Given the description of an element on the screen output the (x, y) to click on. 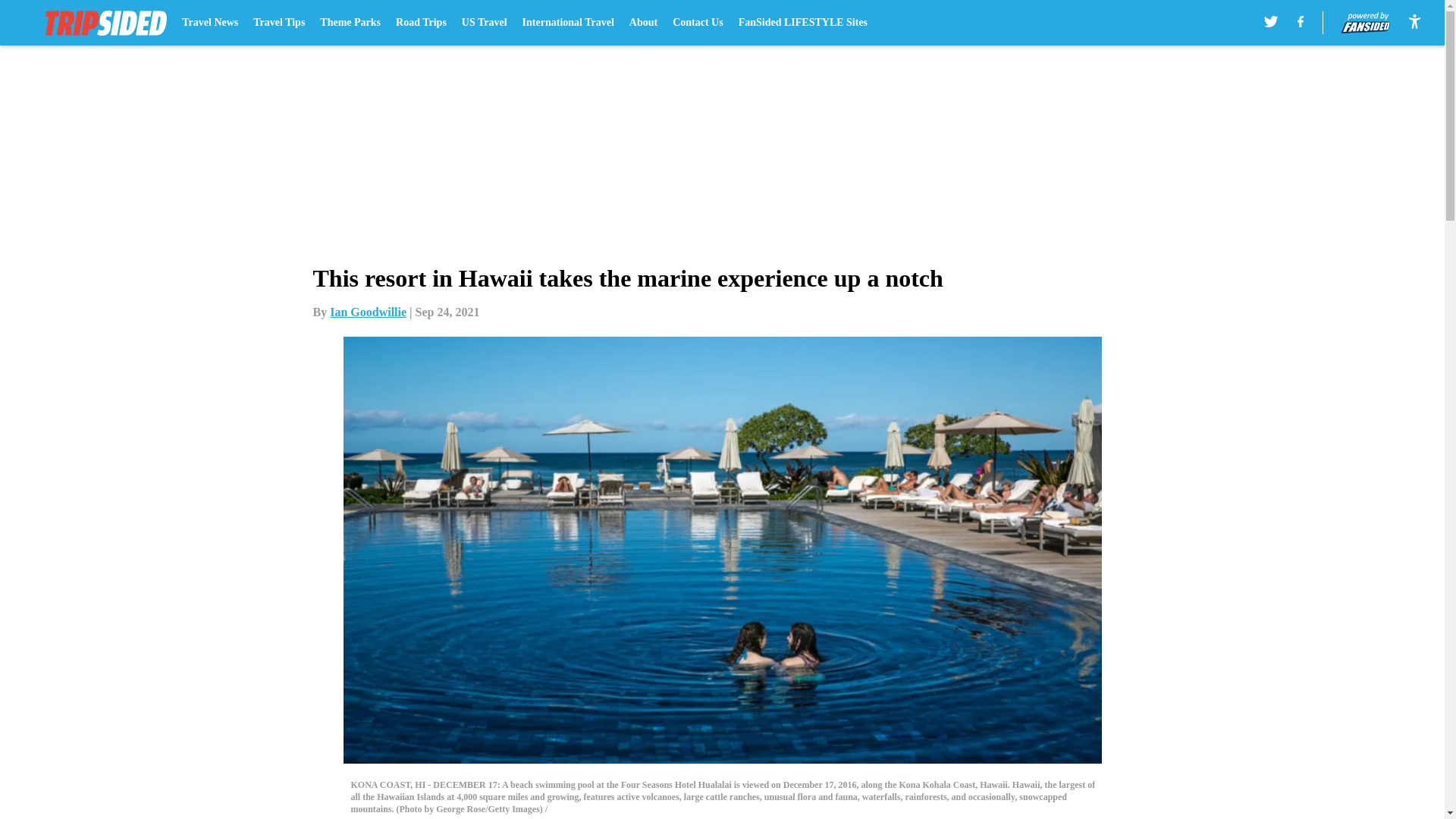
FanSided LIFESTYLE Sites (802, 22)
Contact Us (697, 22)
Travel Tips (278, 22)
US Travel (483, 22)
Ian Goodwillie (368, 311)
Theme Parks (350, 22)
Road Trips (421, 22)
Travel News (210, 22)
About (643, 22)
International Travel (568, 22)
